Given the description of an element on the screen output the (x, y) to click on. 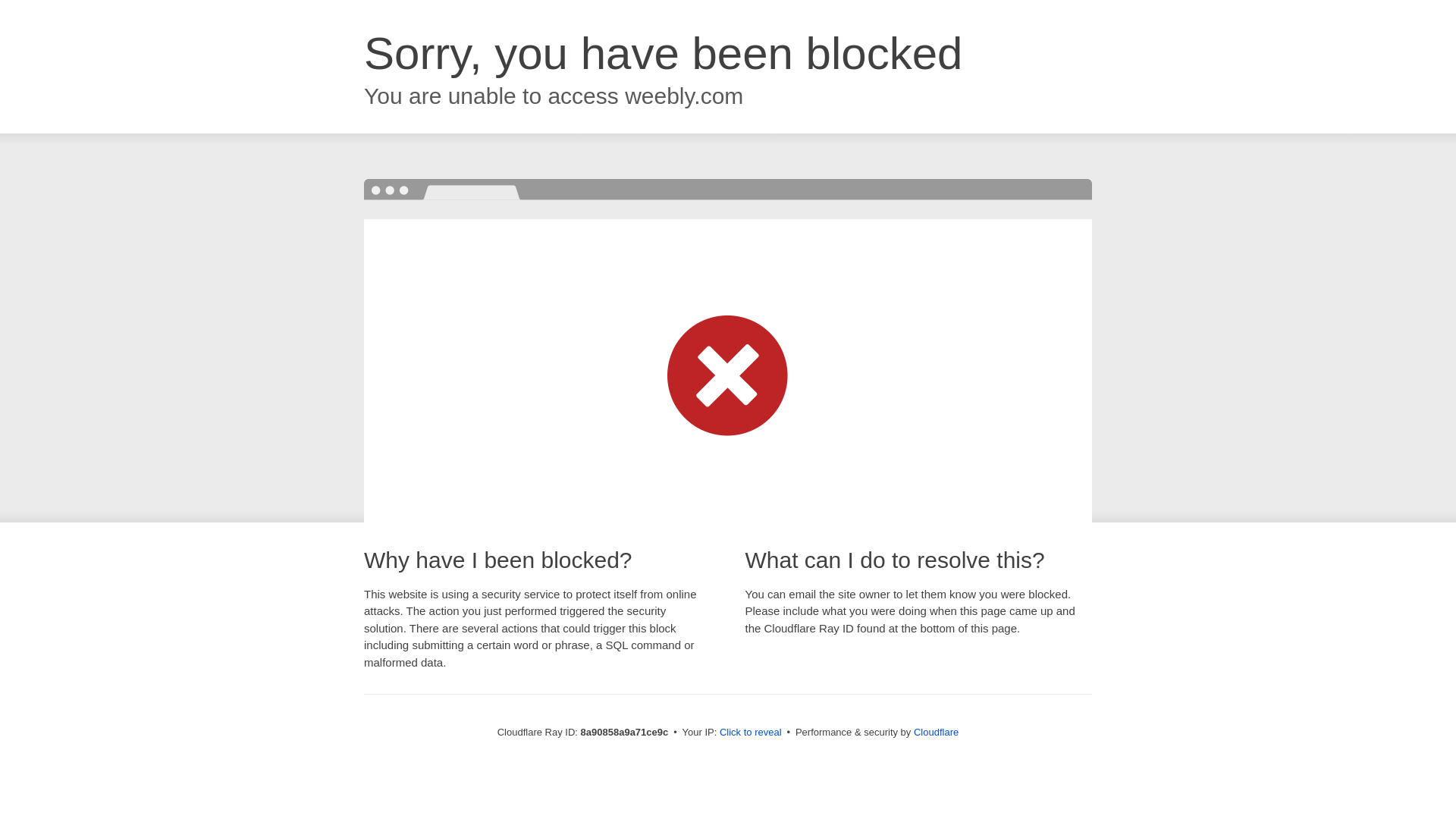
Cloudflare (936, 731)
Click to reveal (750, 732)
